Given the description of an element on the screen output the (x, y) to click on. 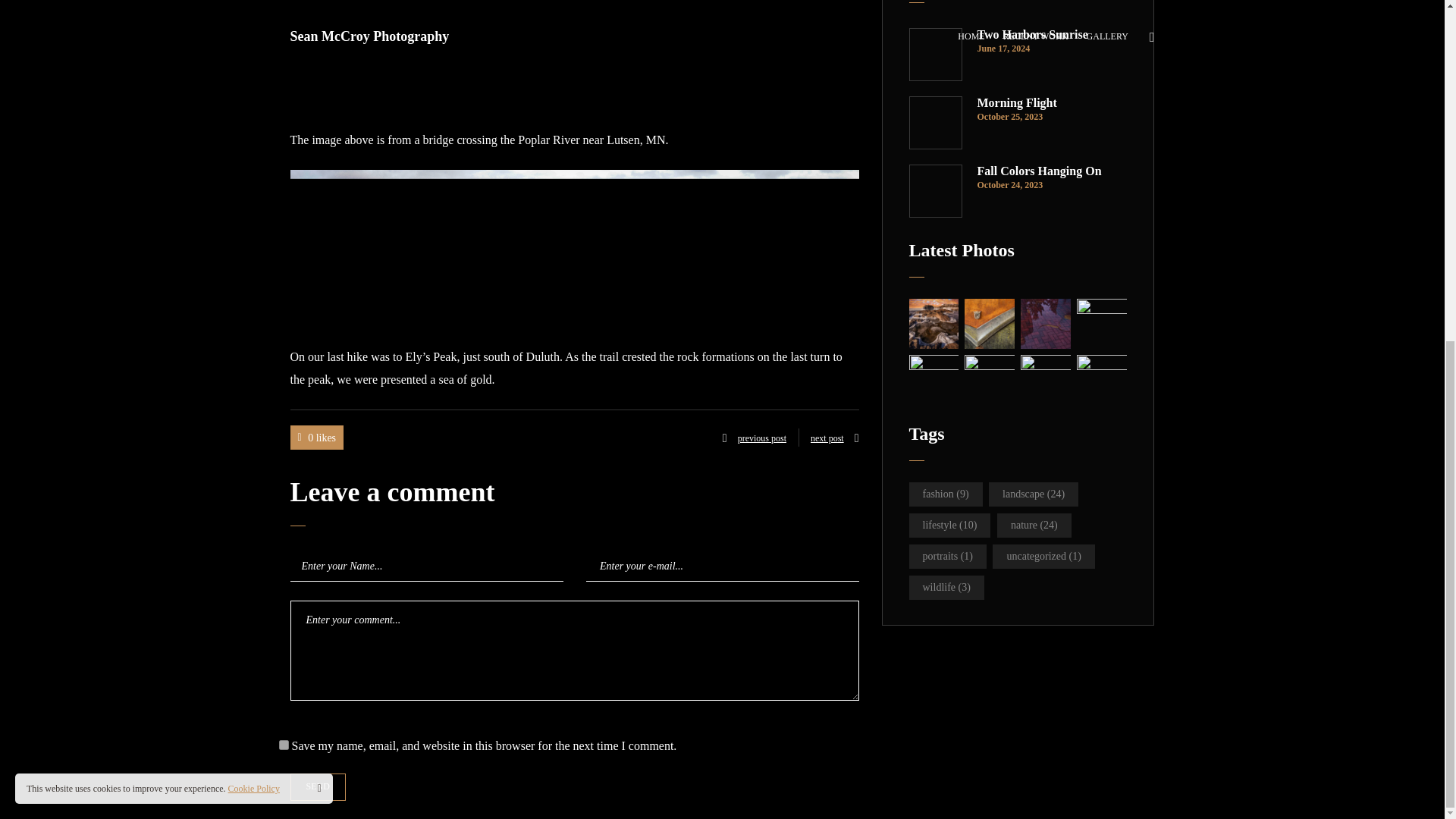
Here I Come (988, 379)
Send (317, 786)
Morning Flight (1051, 102)
Fall Colors Hanging On (1051, 171)
0 likes (316, 437)
Reflection of Paul and Babe (1045, 323)
Spring Thaw on Lake Superior (933, 323)
Chain of the Irvin (933, 379)
yes (283, 745)
Like this (316, 437)
